Given the description of an element on the screen output the (x, y) to click on. 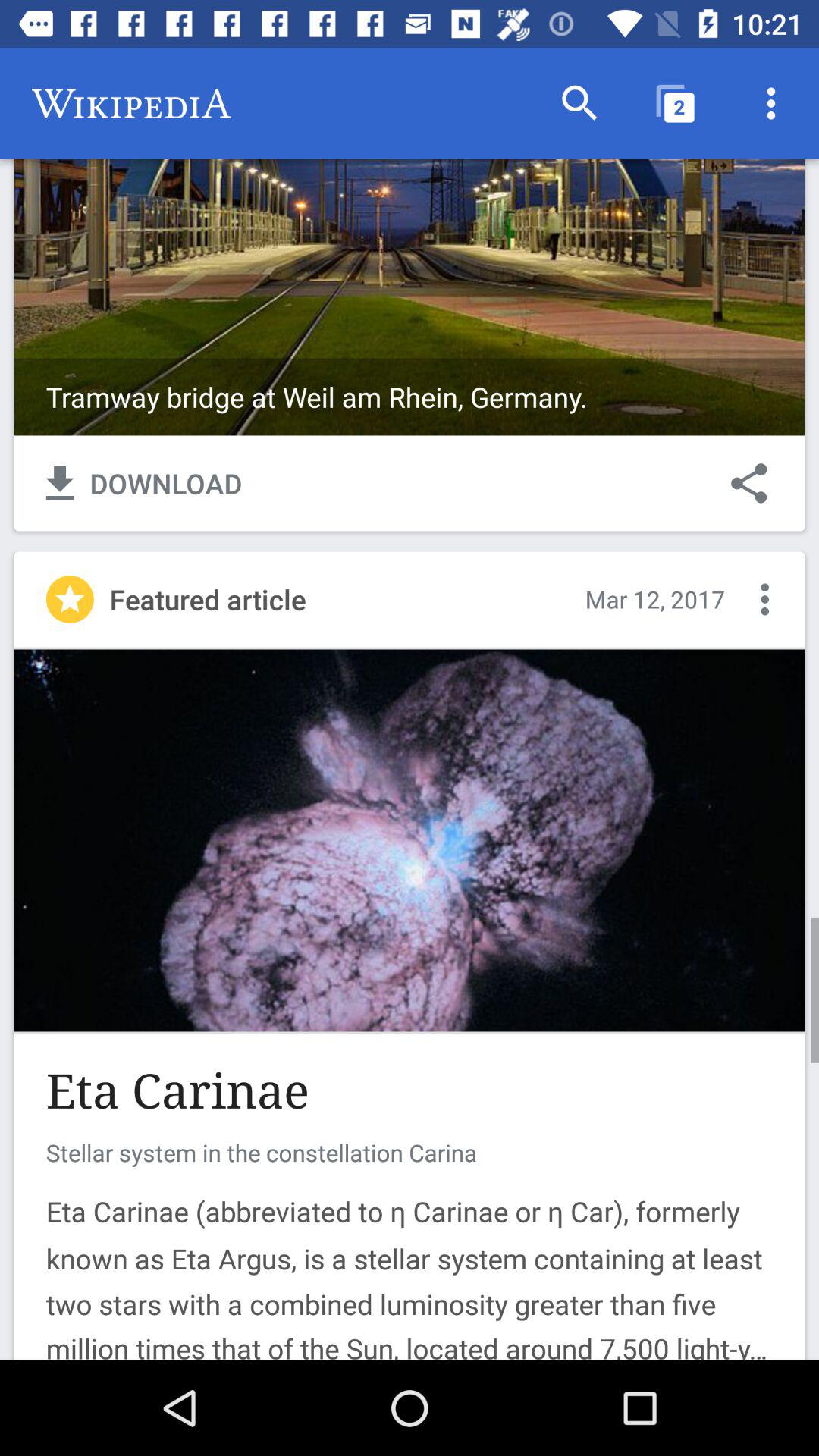
click on featured article image (409, 840)
